Given the description of an element on the screen output the (x, y) to click on. 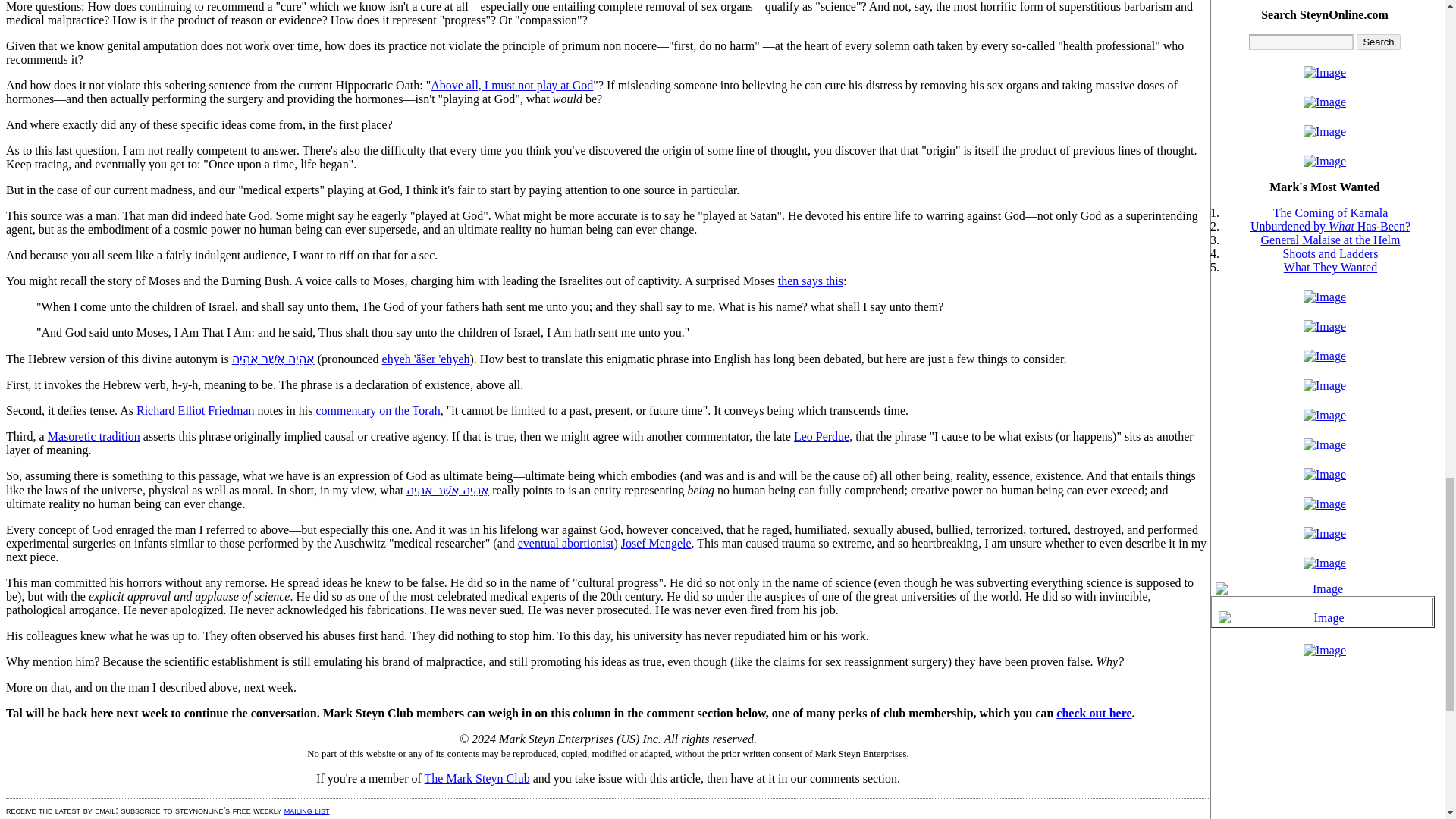
Search (1377, 41)
